Given the description of an element on the screen output the (x, y) to click on. 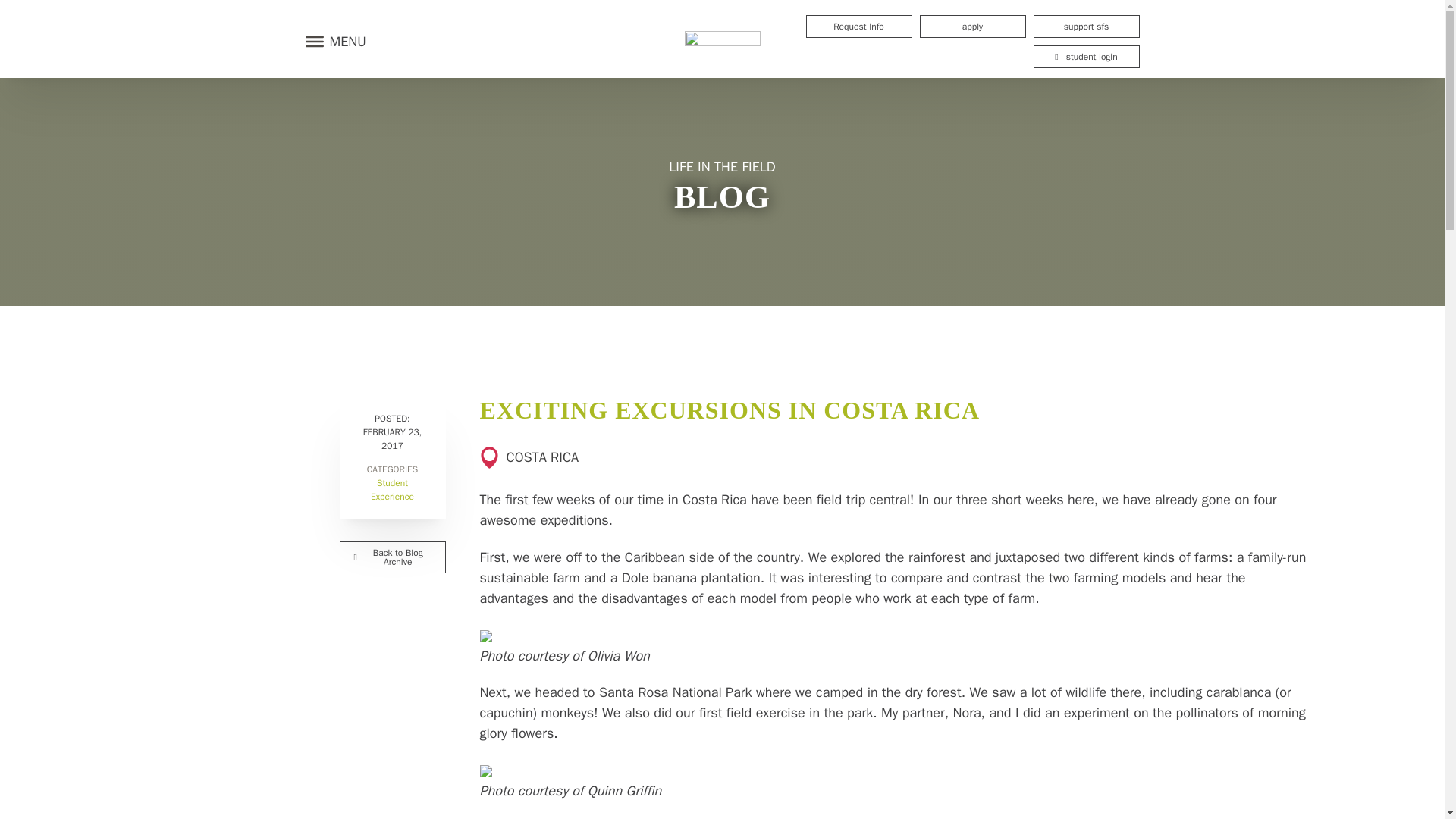
apply (971, 26)
Request Info (858, 26)
support sfs (1085, 26)
student login (1085, 56)
MENU (331, 41)
